Given the description of an element on the screen output the (x, y) to click on. 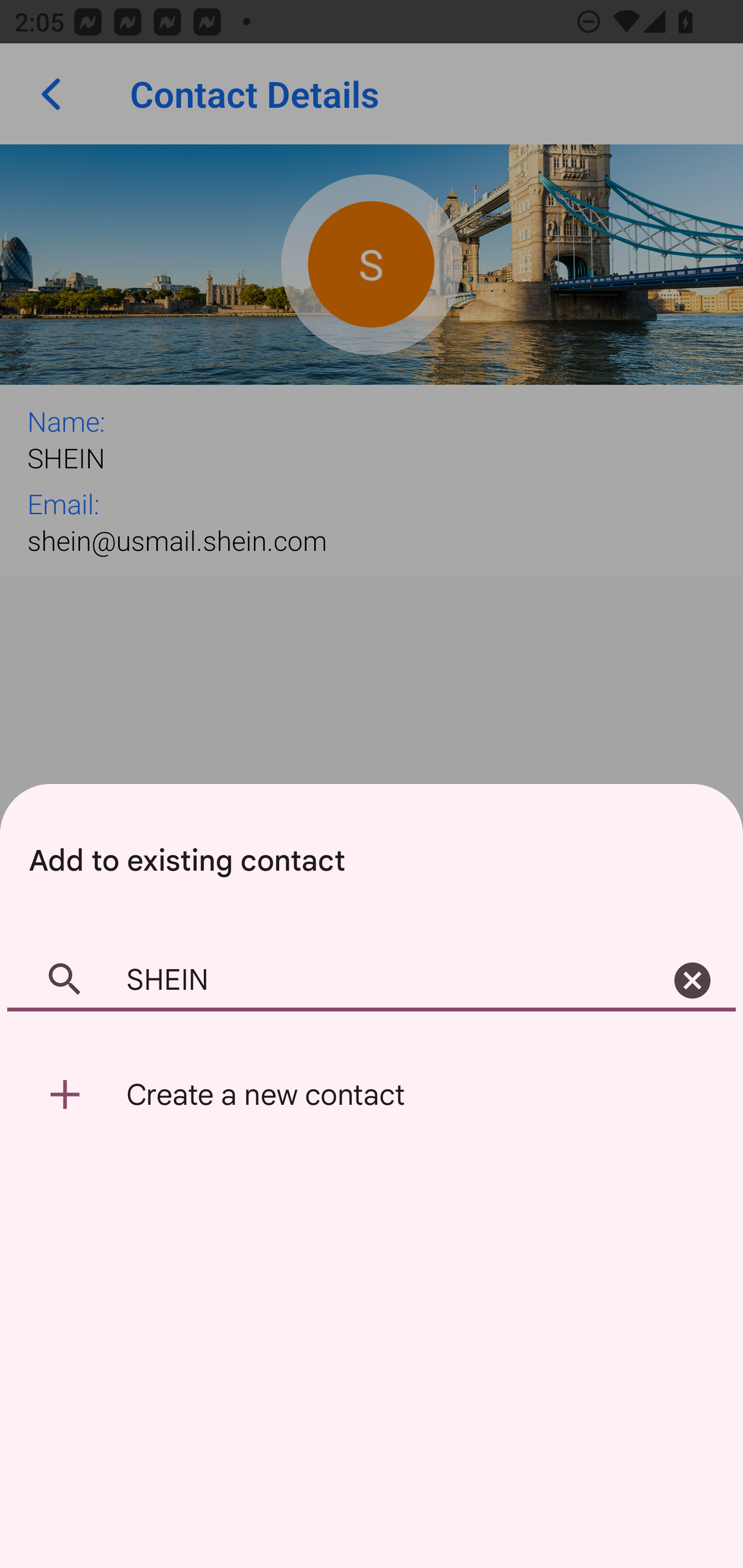
SHEIN (371, 980)
Clear search (692, 980)
Create a new contact (371, 1094)
